Given the description of an element on the screen output the (x, y) to click on. 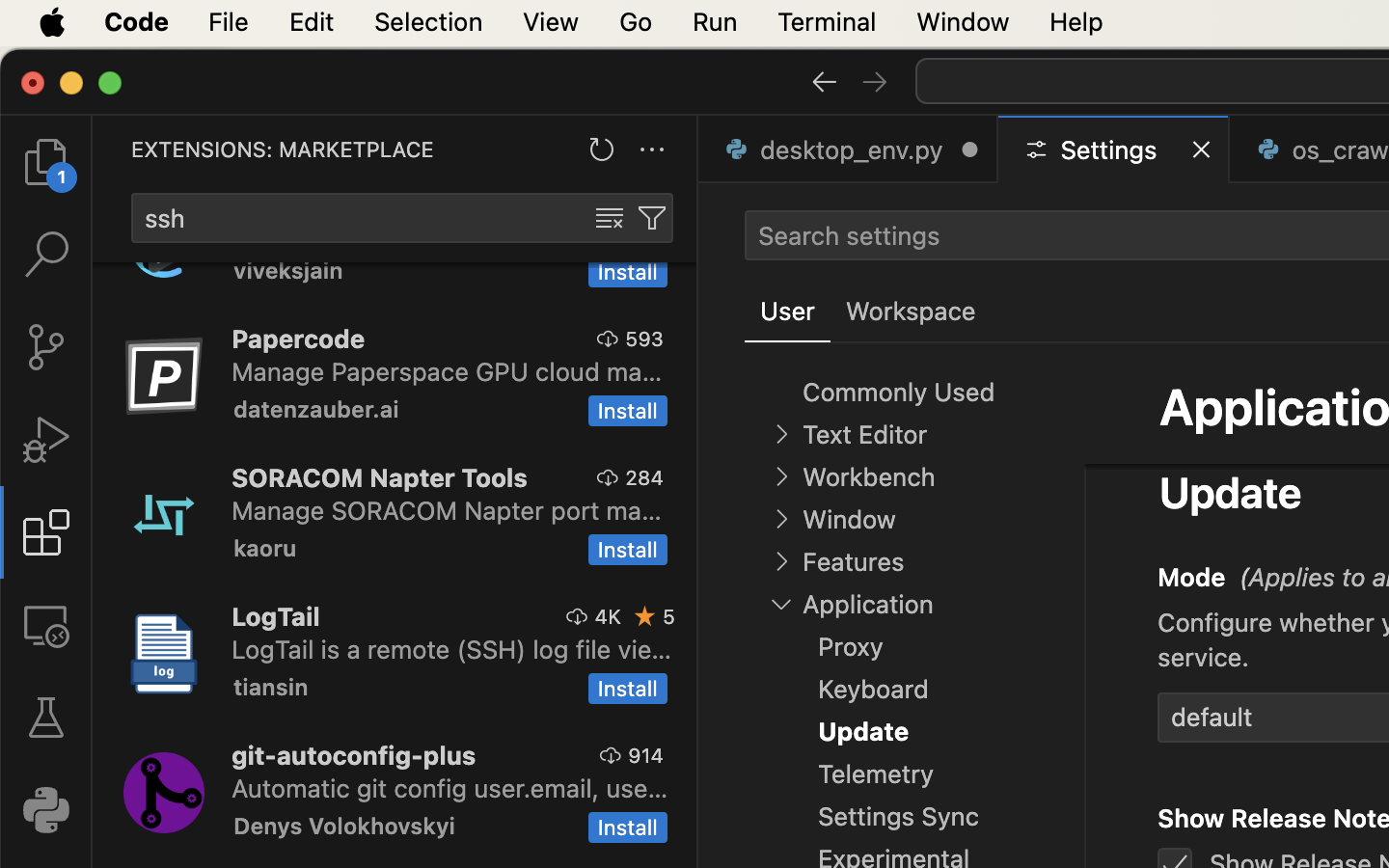
1  Element type: AXRadioButton (46, 532)
viveksjain Element type: AXStaticText (288, 272)
 Element type: AXButton (874, 80)
Manage Paperspace GPU cloud machines directly from VS Code. Open with just one click a remote VS Code session, streamlining your machine learning & data science process and increasing productivity. Element type: AXStaticText (447, 370)
Papercode Element type: AXStaticText (298, 338)
